Given the description of an element on the screen output the (x, y) to click on. 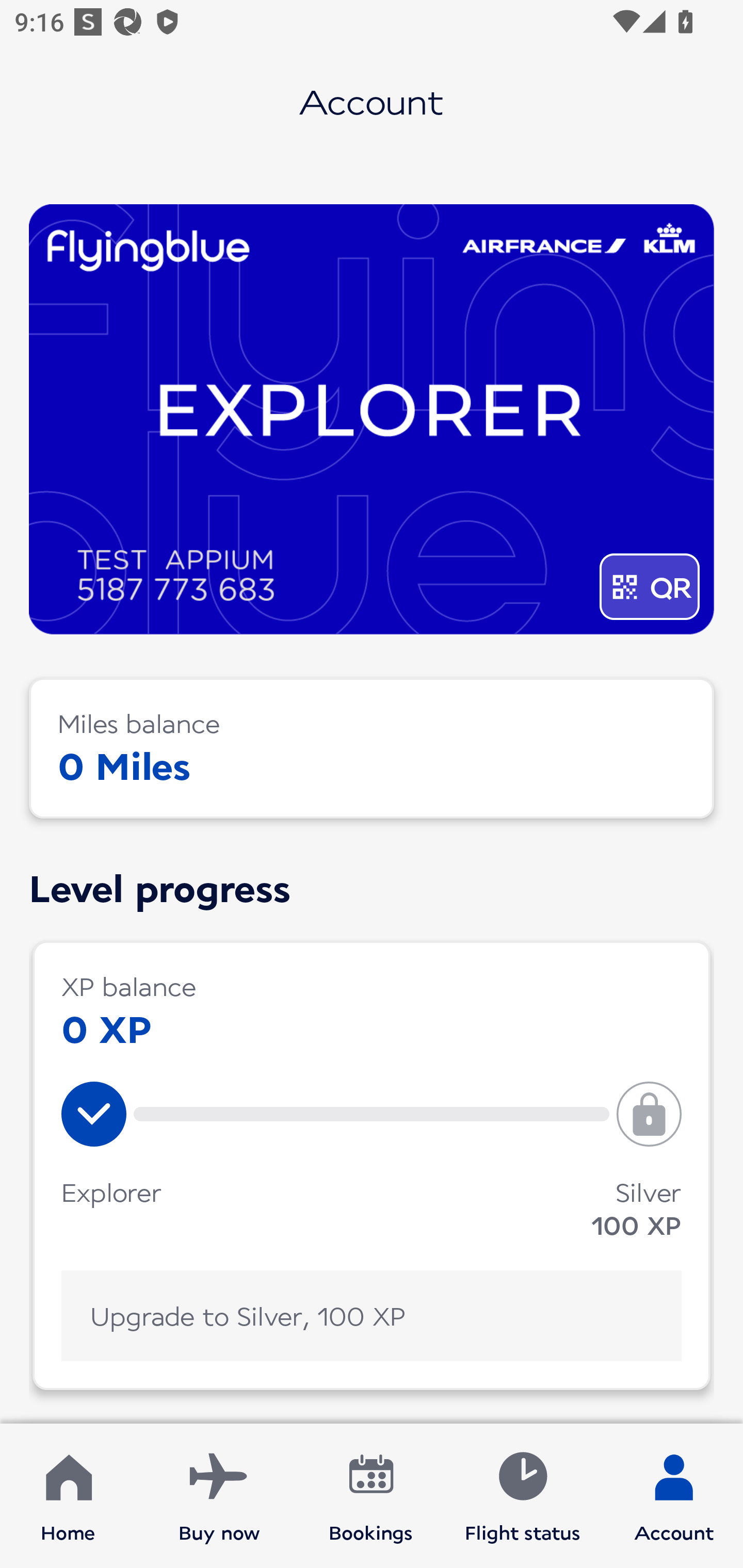
Miles balance 0 Miles (371, 747)
Home (68, 1495)
Buy now (219, 1495)
Bookings (370, 1495)
Flight status (522, 1495)
